Given the description of an element on the screen output the (x, y) to click on. 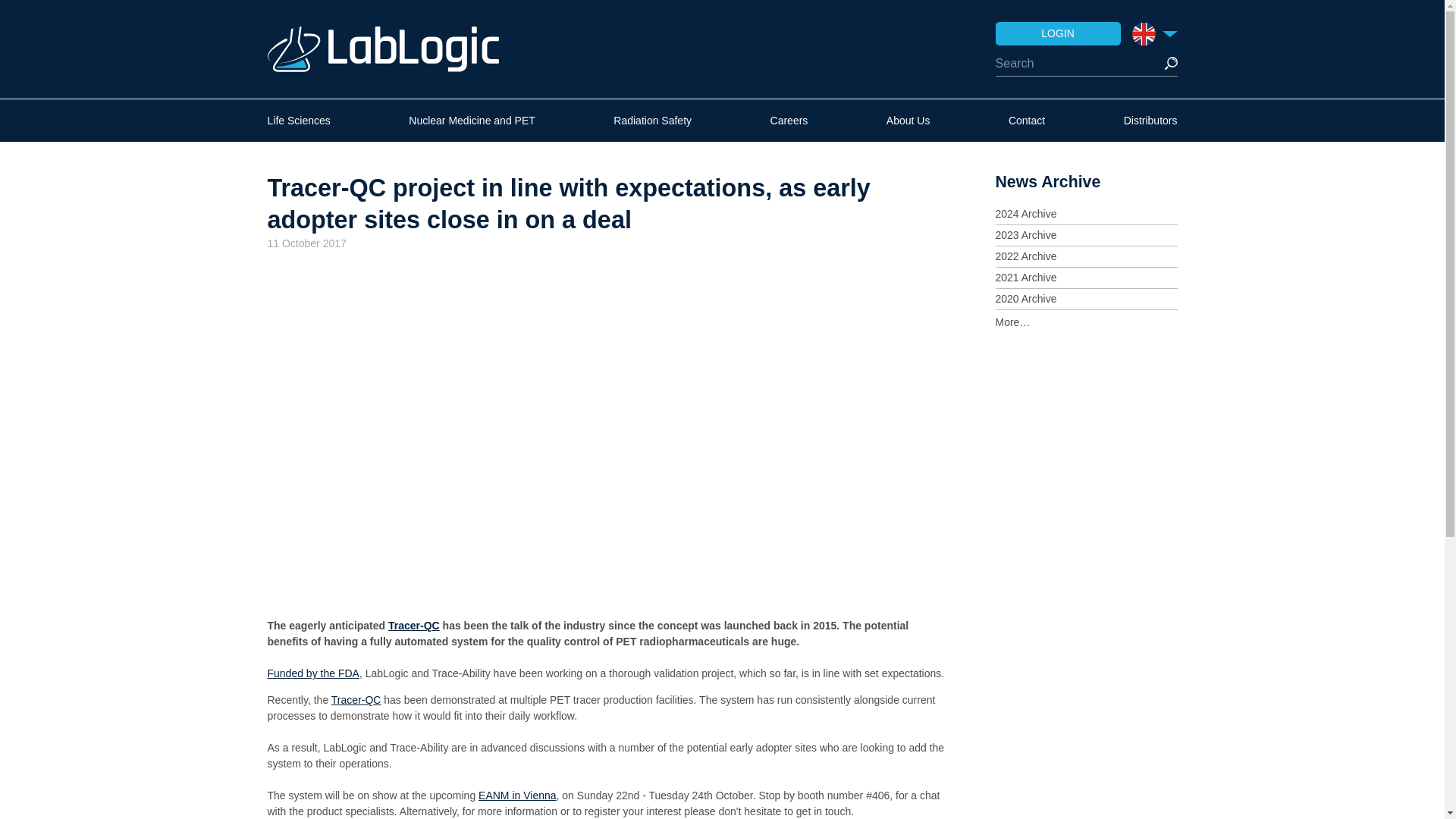
Tracer-QC (413, 625)
2020 Archive (1085, 299)
EANM in Vienna (517, 795)
2024 Archive (1085, 213)
About Us (908, 120)
2022 Archive (1085, 256)
Nuclear Medicine and PET (472, 120)
2019 Archive (1085, 320)
Tracer-QC (356, 699)
LOGIN (1056, 33)
Search (1169, 63)
Funded by the FDA (312, 673)
Careers (789, 120)
2023 Archive (1085, 235)
Distributors (1150, 120)
